Given the description of an element on the screen output the (x, y) to click on. 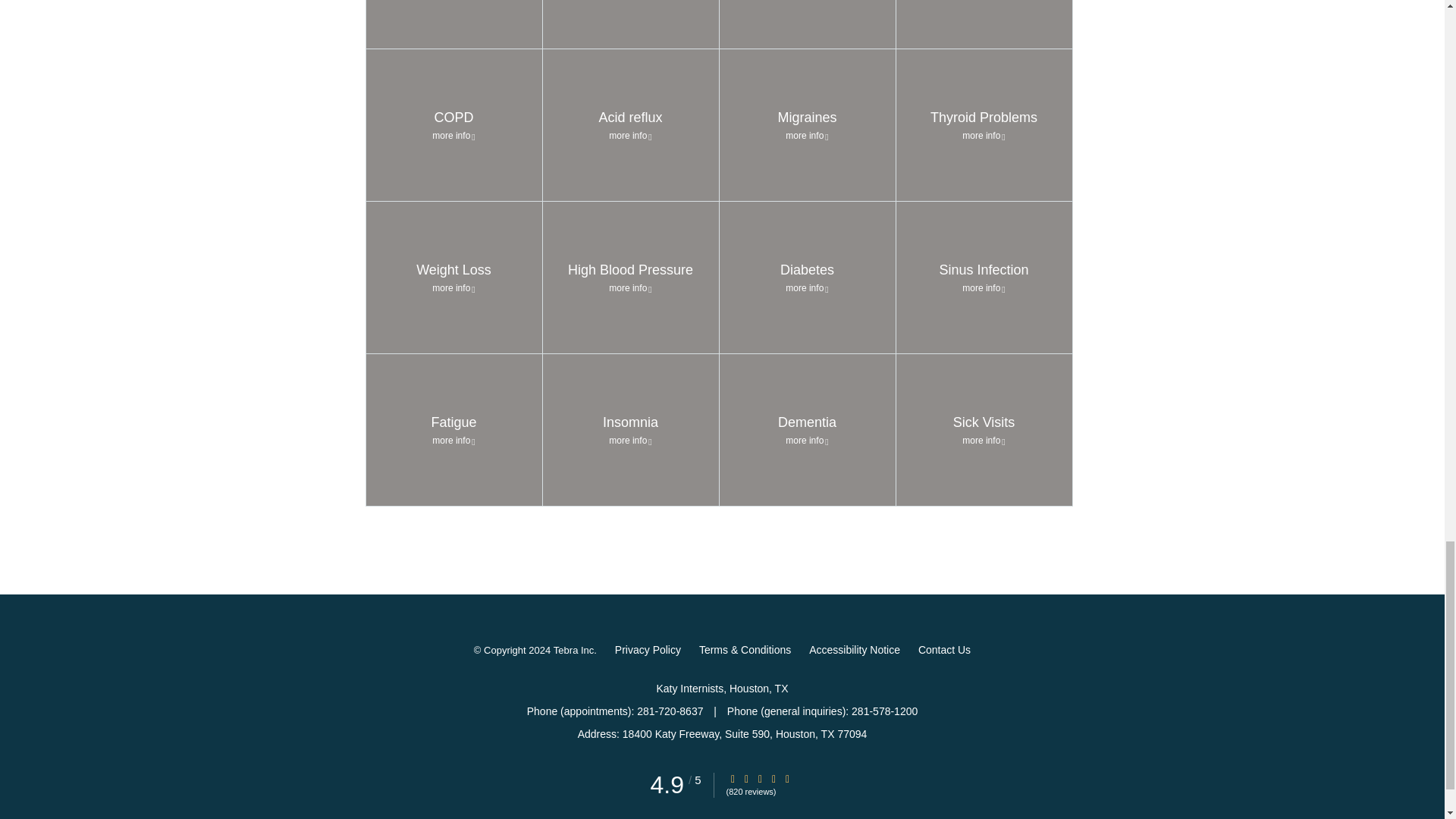
Star Rating (760, 778)
Star Rating (733, 778)
Star Rating (788, 778)
Star Rating (746, 778)
Star Rating (773, 778)
